Given the description of an element on the screen output the (x, y) to click on. 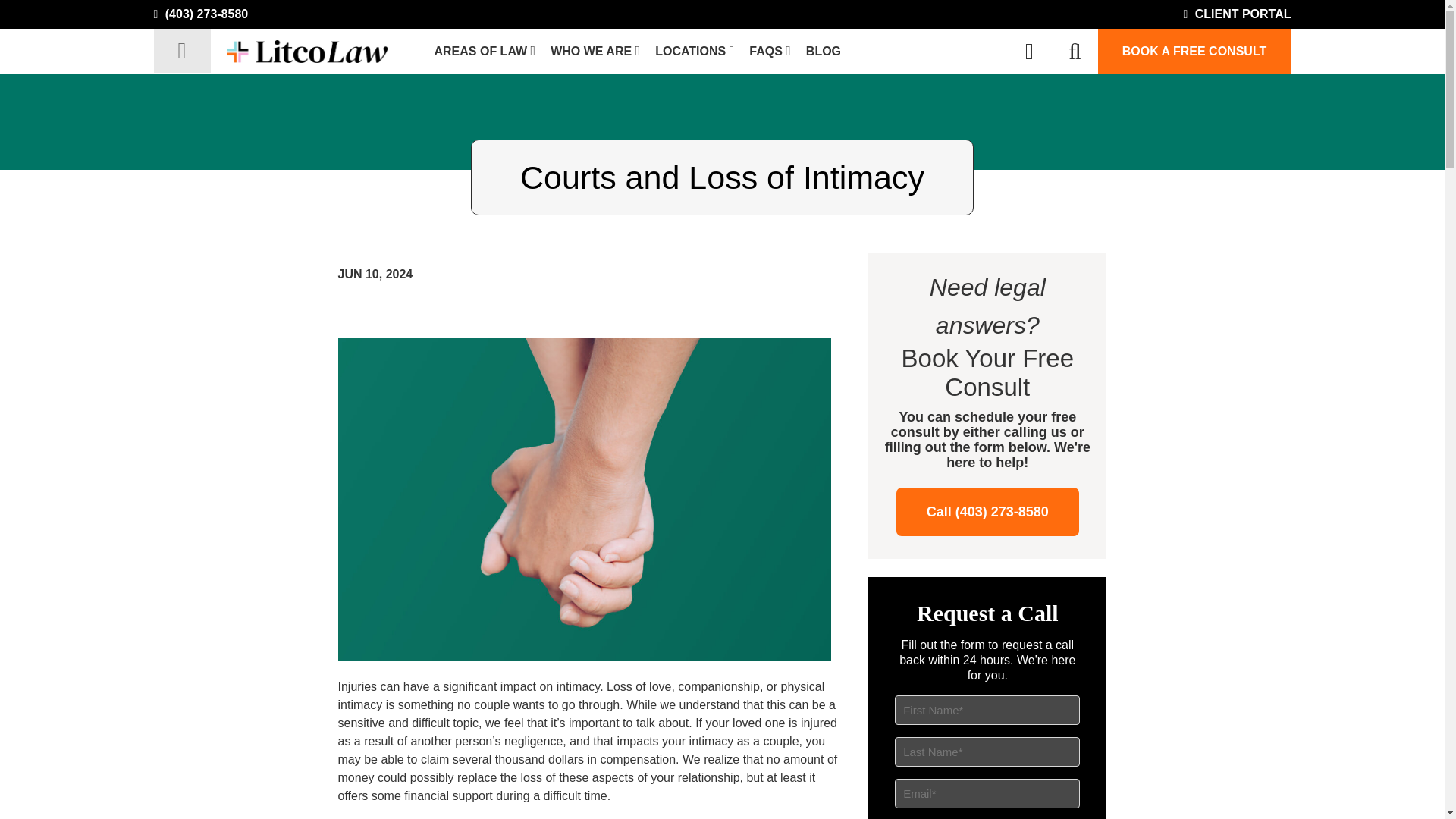
LOCATIONS (694, 51)
WHO WE ARE (595, 51)
BOOK A FREE CONSULT (1194, 50)
AREAS OF LAW (484, 51)
CLIENT PORTAL (1236, 13)
BLOG (823, 51)
FAQS (769, 51)
